Given the description of an element on the screen output the (x, y) to click on. 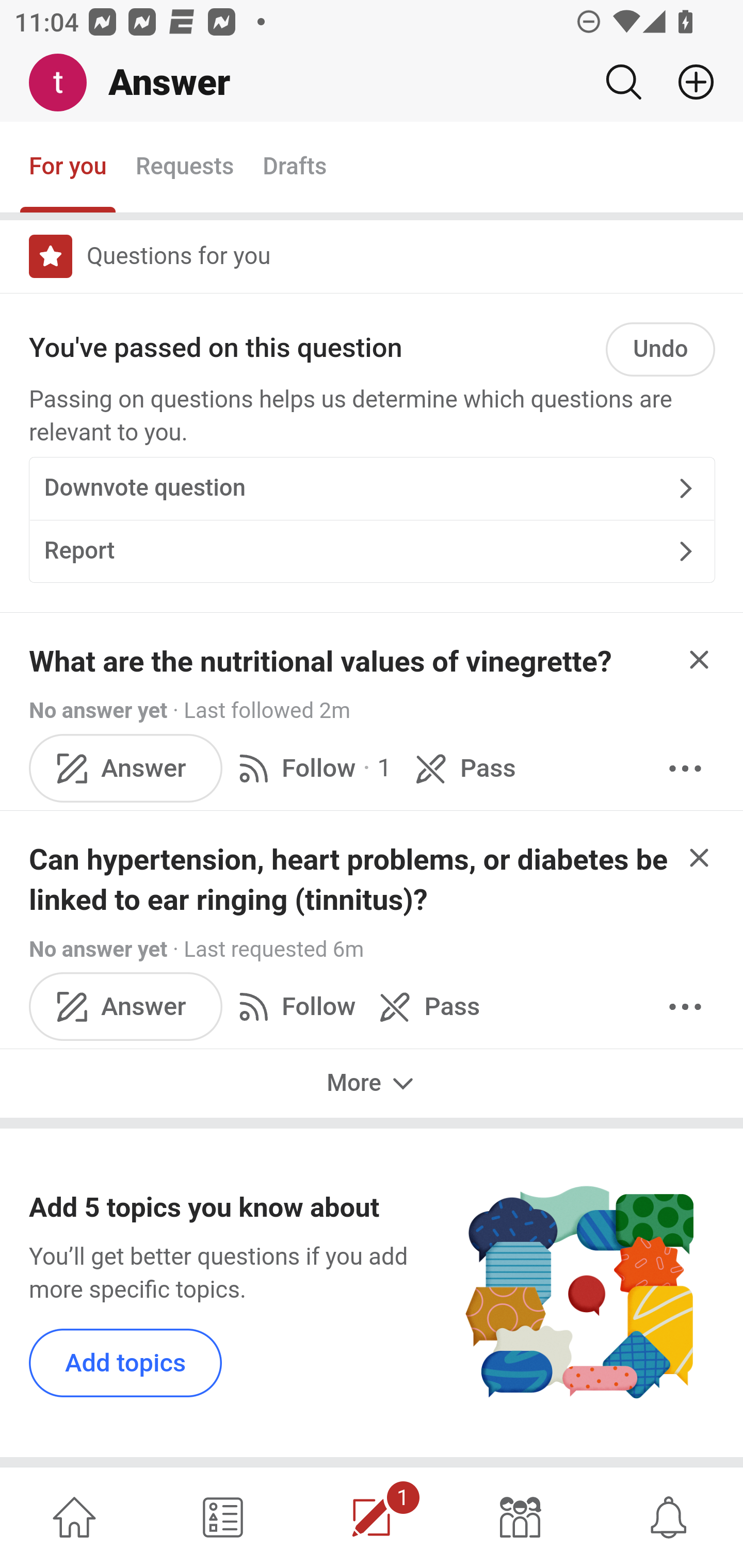
Me (64, 83)
Search (623, 82)
Add (688, 82)
For you (68, 167)
Requests (183, 167)
Drafts (295, 167)
Undo (660, 349)
Downvote question (371, 488)
Report (371, 551)
Hide (699, 660)
What are the nutritional values of vinegrette? (320, 661)
Answer (125, 768)
Follow · 1 (311, 768)
Pass (461, 768)
More (684, 768)
Hide (699, 856)
Answer (125, 1007)
Follow (293, 1007)
Pass (425, 1007)
More (684, 1007)
More (371, 1083)
Add topics (125, 1362)
